Given the description of an element on the screen output the (x, y) to click on. 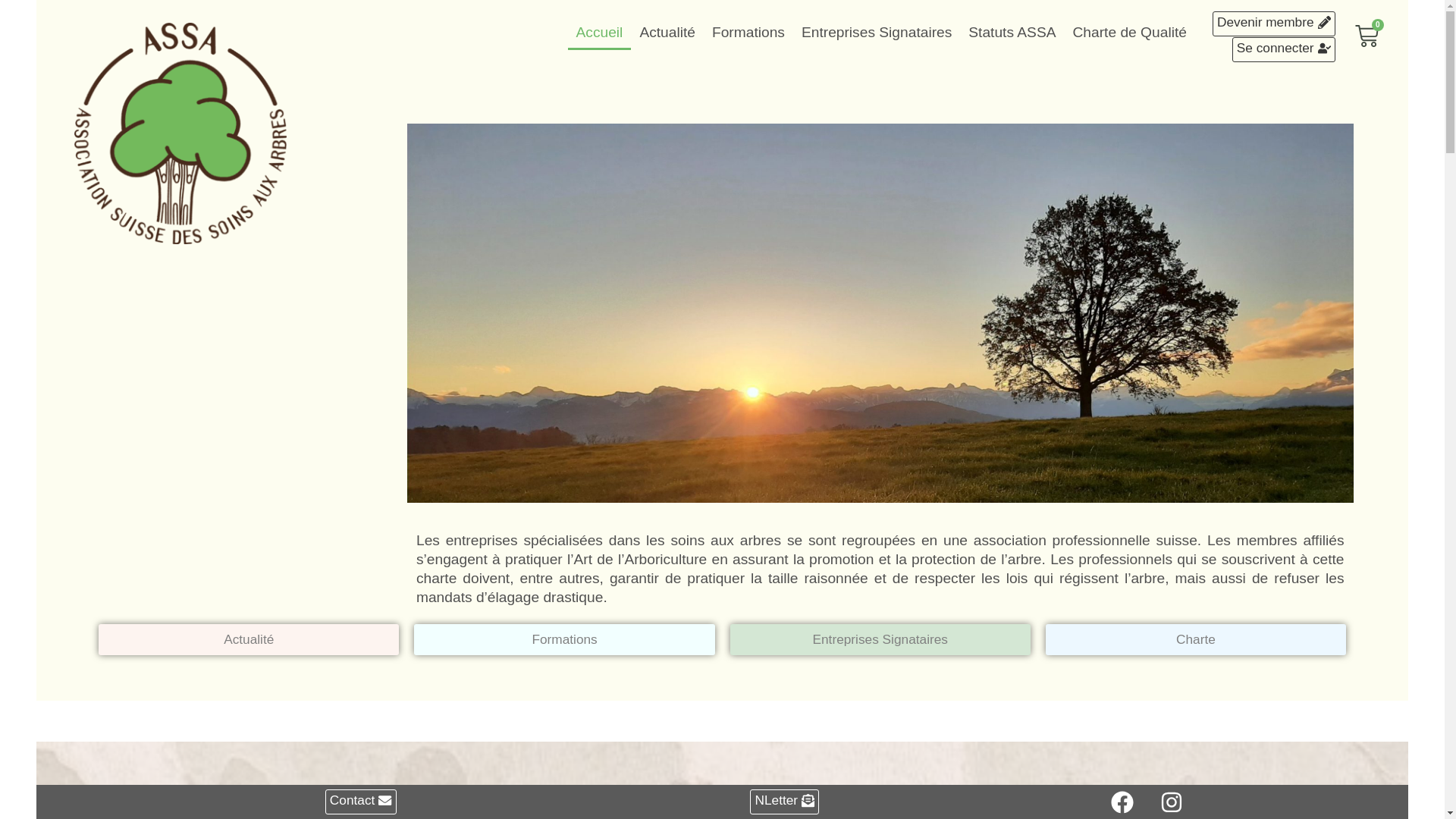
Entreprises Signataires Element type: text (880, 639)
Statuts ASSA Element type: text (1011, 32)
0 Element type: text (1385, 37)
Devenir membre Element type: text (1273, 23)
Entreprises Signataires Element type: text (876, 32)
Se connecter Element type: text (1283, 49)
Formations Element type: text (748, 32)
NLetter Element type: text (784, 801)
Accueil Element type: text (599, 32)
Contact Element type: text (360, 801)
Formations Element type: text (564, 639)
Charte Element type: text (1195, 639)
